Given the description of an element on the screen output the (x, y) to click on. 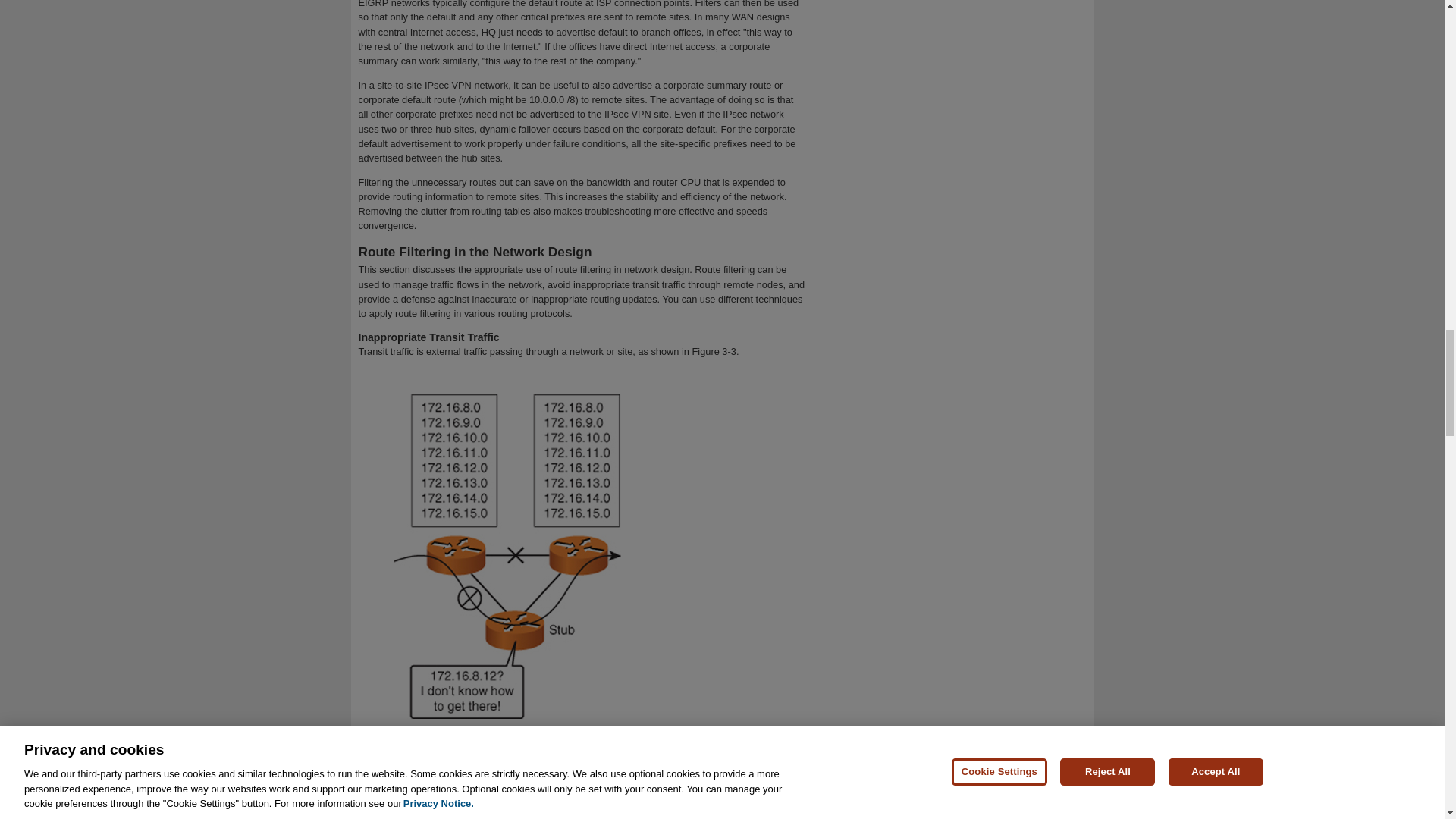
Figure 3-3 (714, 351)
Figure 3-3 (399, 745)
